Given the description of an element on the screen output the (x, y) to click on. 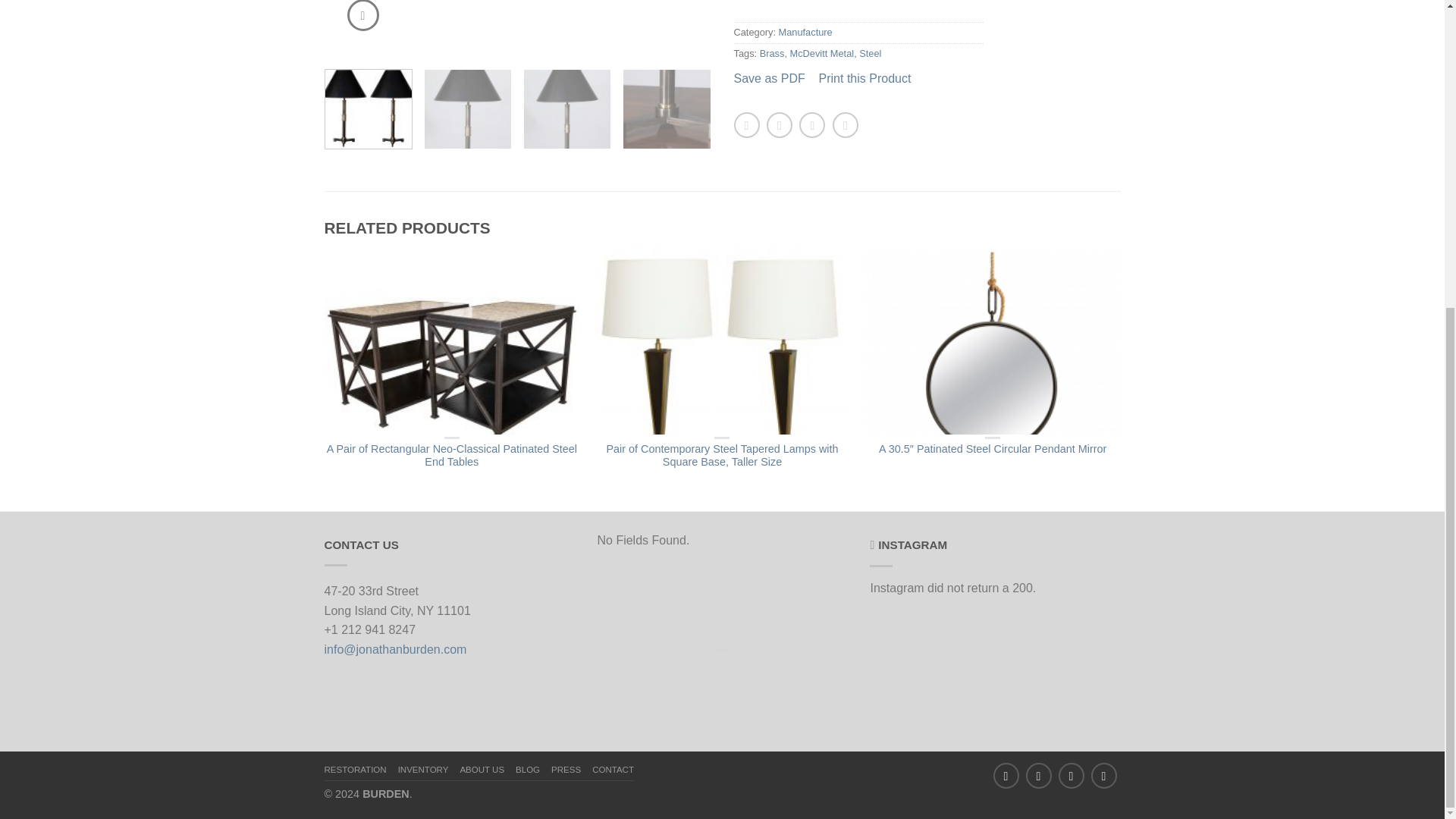
McDevitt Metal (822, 52)
Save as PDF (769, 78)
Manufacture (805, 31)
Print this Product (864, 78)
Steel (869, 52)
Brass (772, 52)
